Given the description of an element on the screen output the (x, y) to click on. 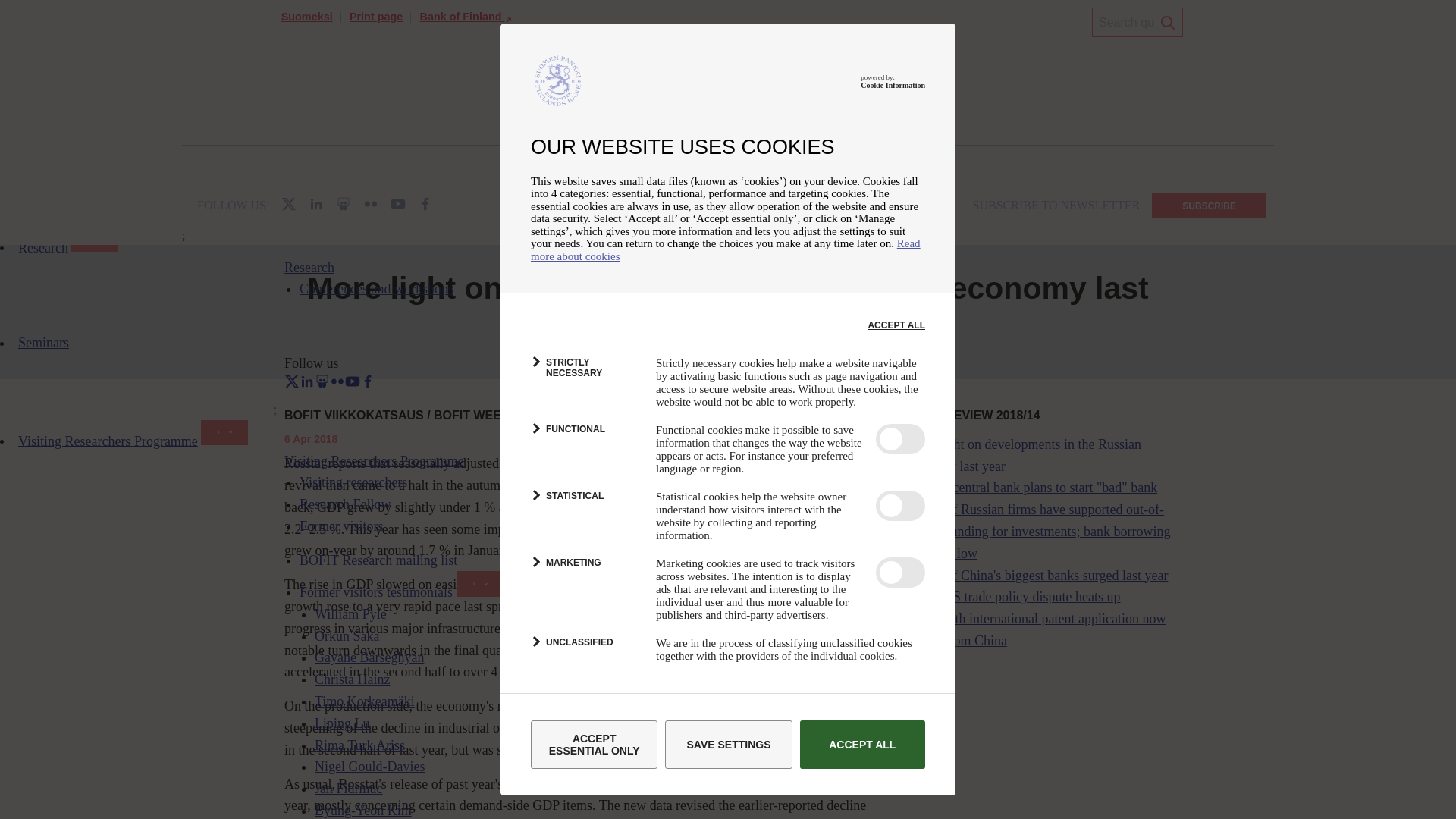
STATISTICAL (585, 503)
Read more about cookies (725, 249)
ACCEPT ESSENTIAL ONLY (594, 744)
Go to section Monitoring (374, 186)
Cookie Information (892, 85)
Return to frontpage (305, 186)
MARKETING (585, 570)
UNCLASSIFIED (585, 649)
ACCEPT ALL (861, 744)
FUNCTIONAL (585, 436)
SAVE SETTINGS (728, 744)
ACCEPT ALL (895, 325)
